Given the description of an element on the screen output the (x, y) to click on. 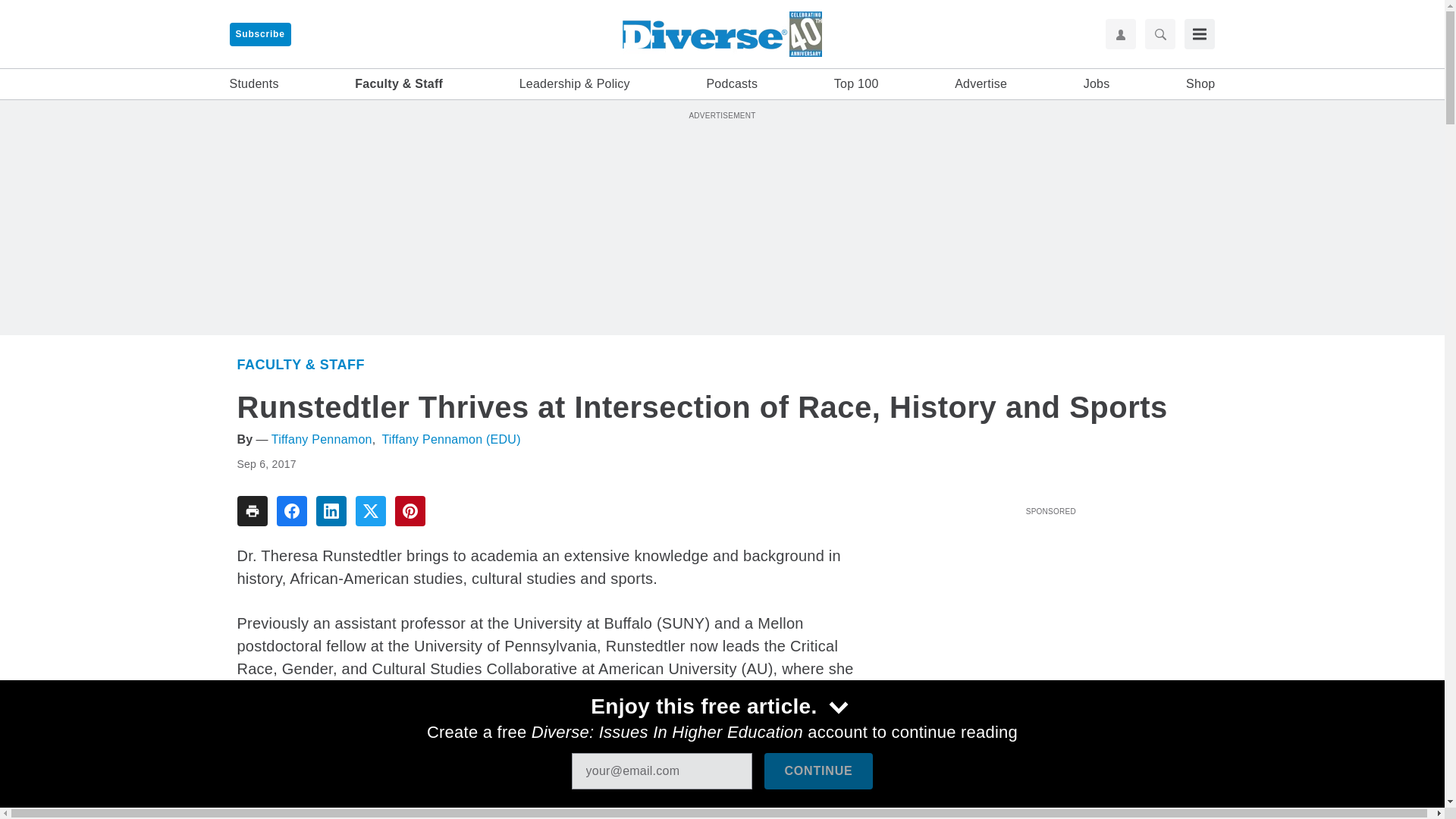
Subscribe (258, 33)
Share To twitter (370, 511)
Share To print (250, 511)
Jobs (1096, 84)
Subscribe (258, 33)
Share To facebook (290, 511)
Podcasts (731, 84)
Top 100 (856, 84)
Students (253, 84)
Advertise (981, 84)
